Given the description of an element on the screen output the (x, y) to click on. 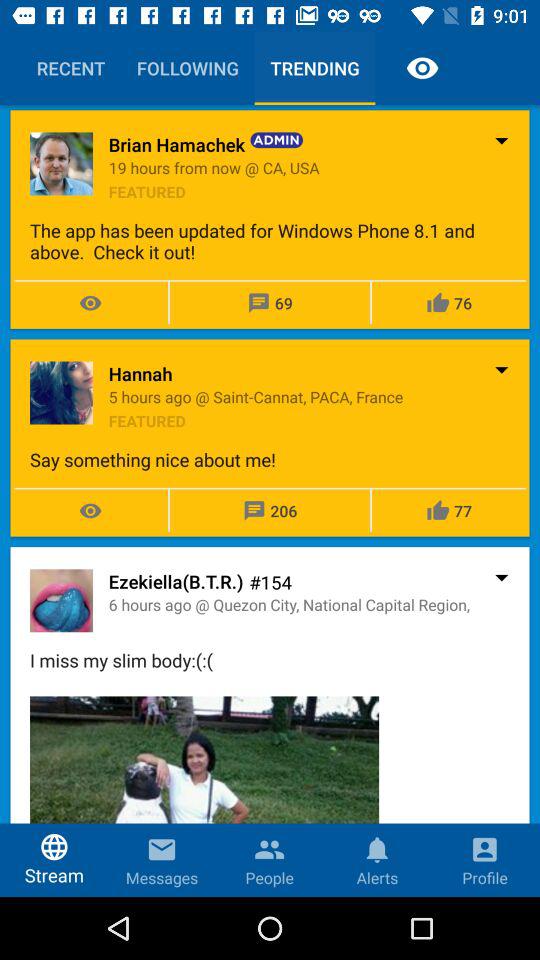
turn off the item to the left of the profile icon (204, 796)
